Given the description of an element on the screen output the (x, y) to click on. 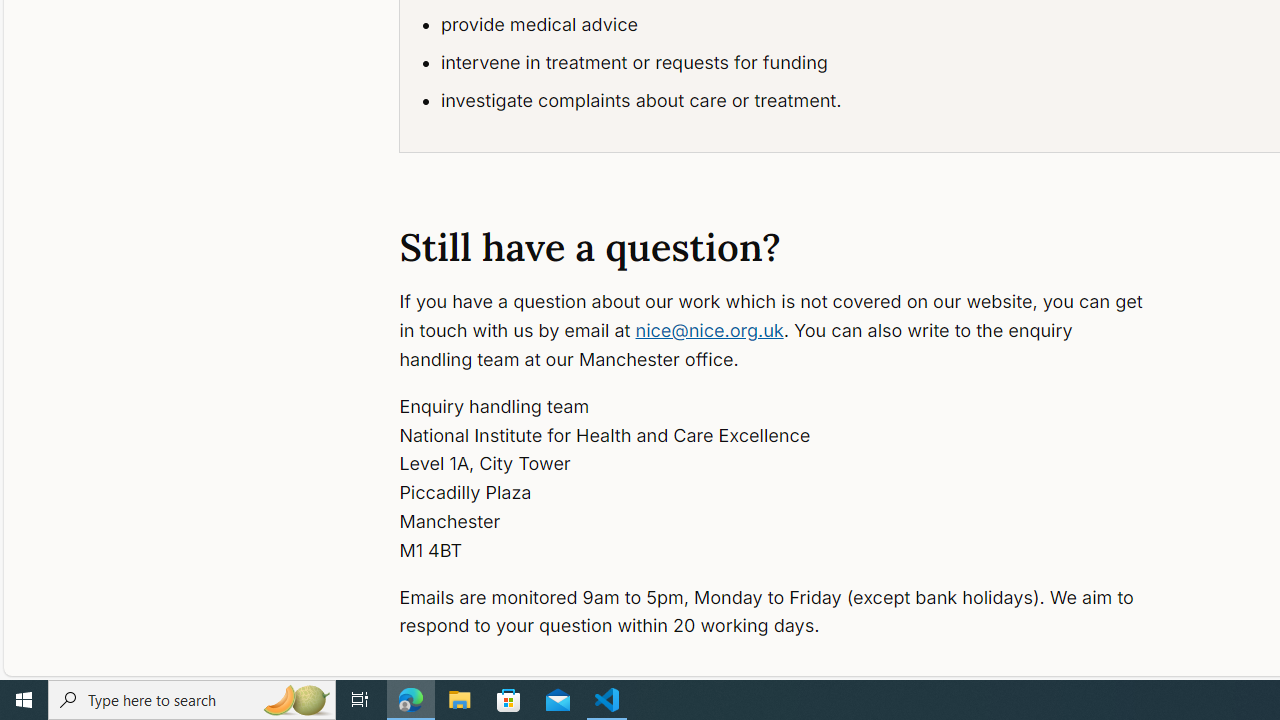
intervene in treatment or requests for funding (798, 62)
provide medical advice (798, 25)
investigate complaints about care or treatment. (798, 100)
nice@nice.org.uk (708, 330)
